Given the description of an element on the screen output the (x, y) to click on. 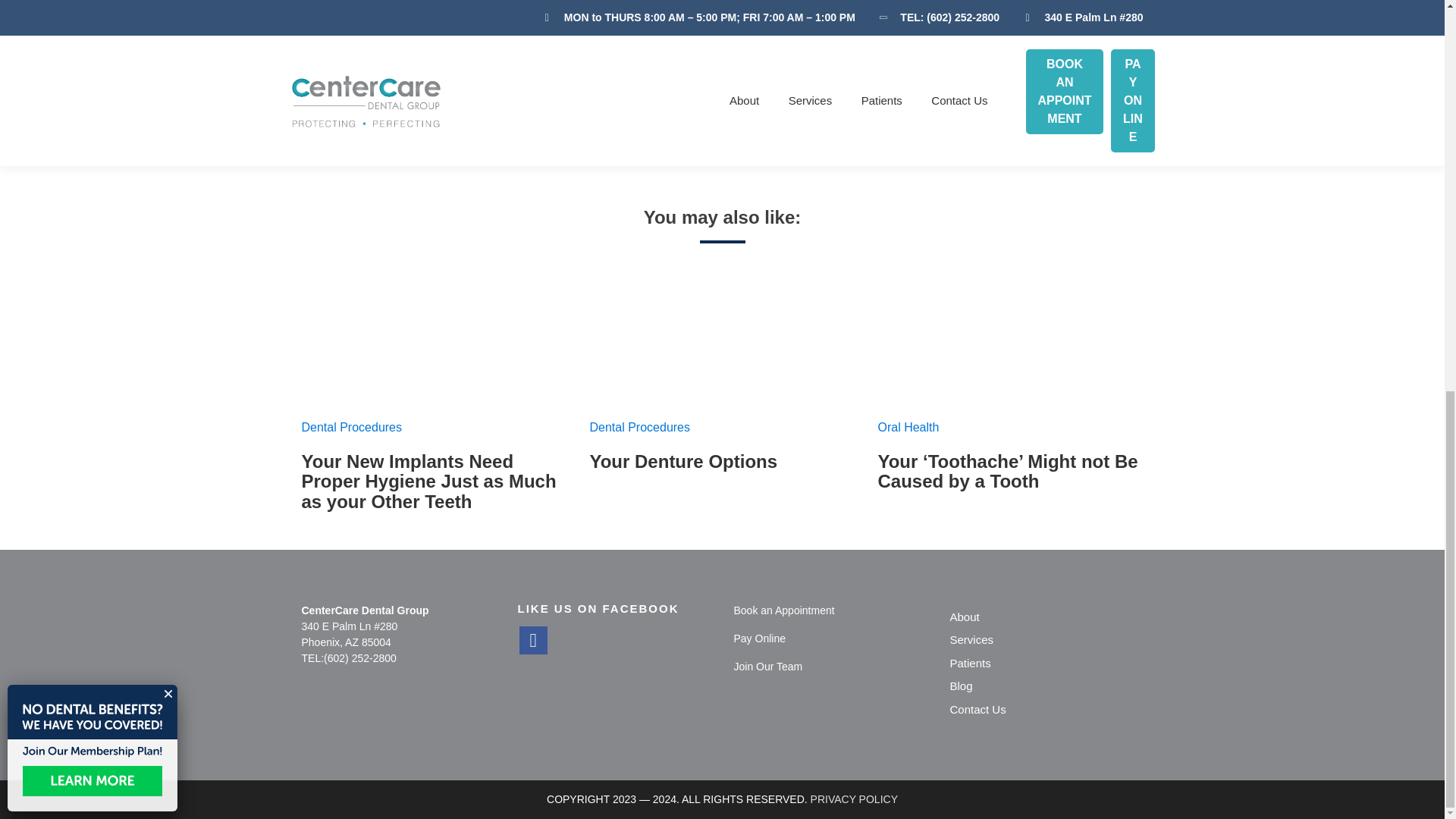
Opens in new tab (783, 610)
contact us (740, 137)
Opens in new tab (532, 640)
Fibromyalgia and Temporomandibular Disorders (791, 155)
Opens in new tab (759, 638)
Dental Procedures (352, 427)
Opens in new tab (791, 155)
Dental Procedures (639, 427)
schedule an appointment (855, 137)
